Given the description of an element on the screen output the (x, y) to click on. 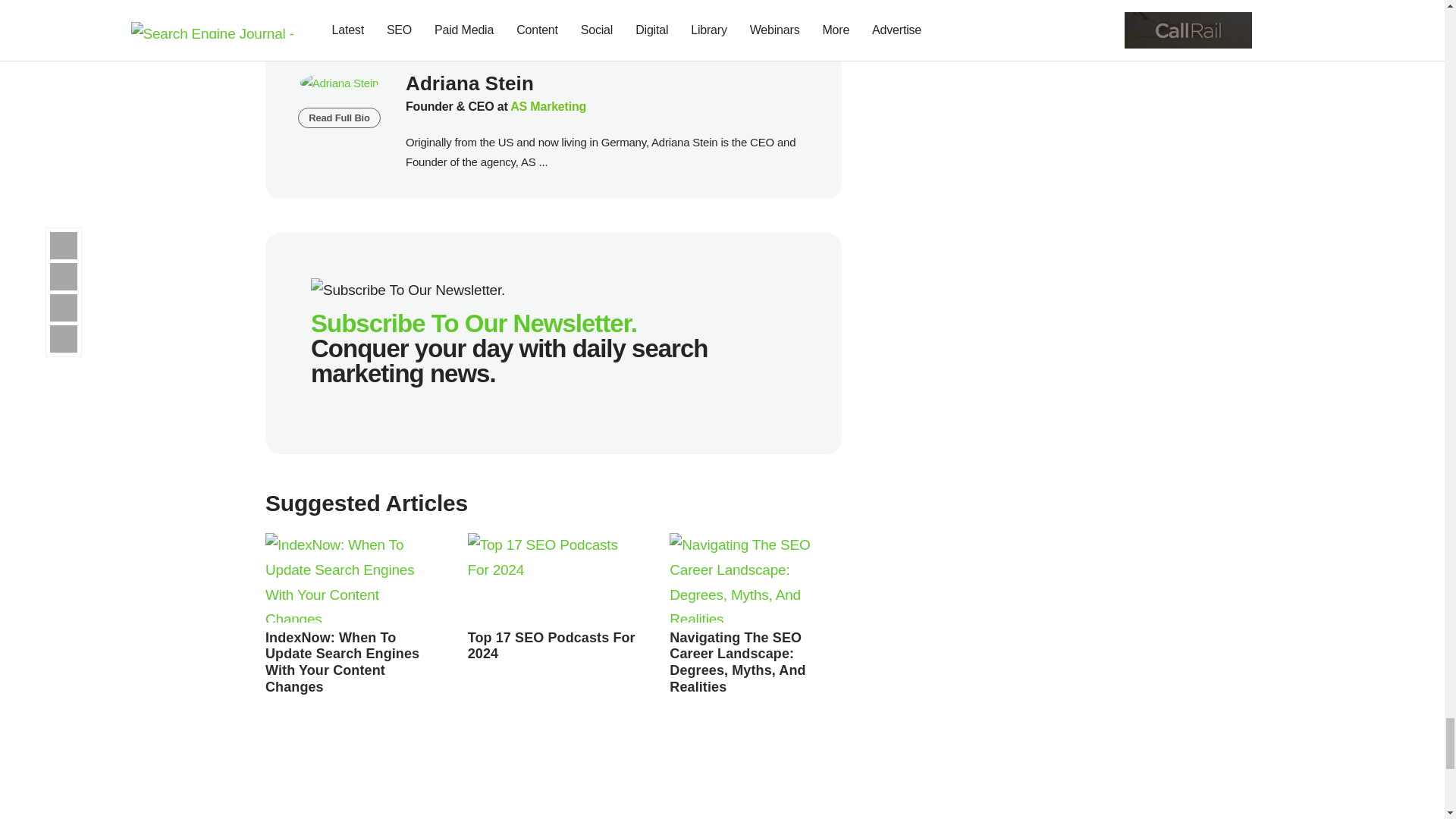
Read the Article (550, 645)
Read the Article (351, 577)
Read the Article (553, 577)
Read the Article (755, 577)
Read the Article (341, 661)
